Given the description of an element on the screen output the (x, y) to click on. 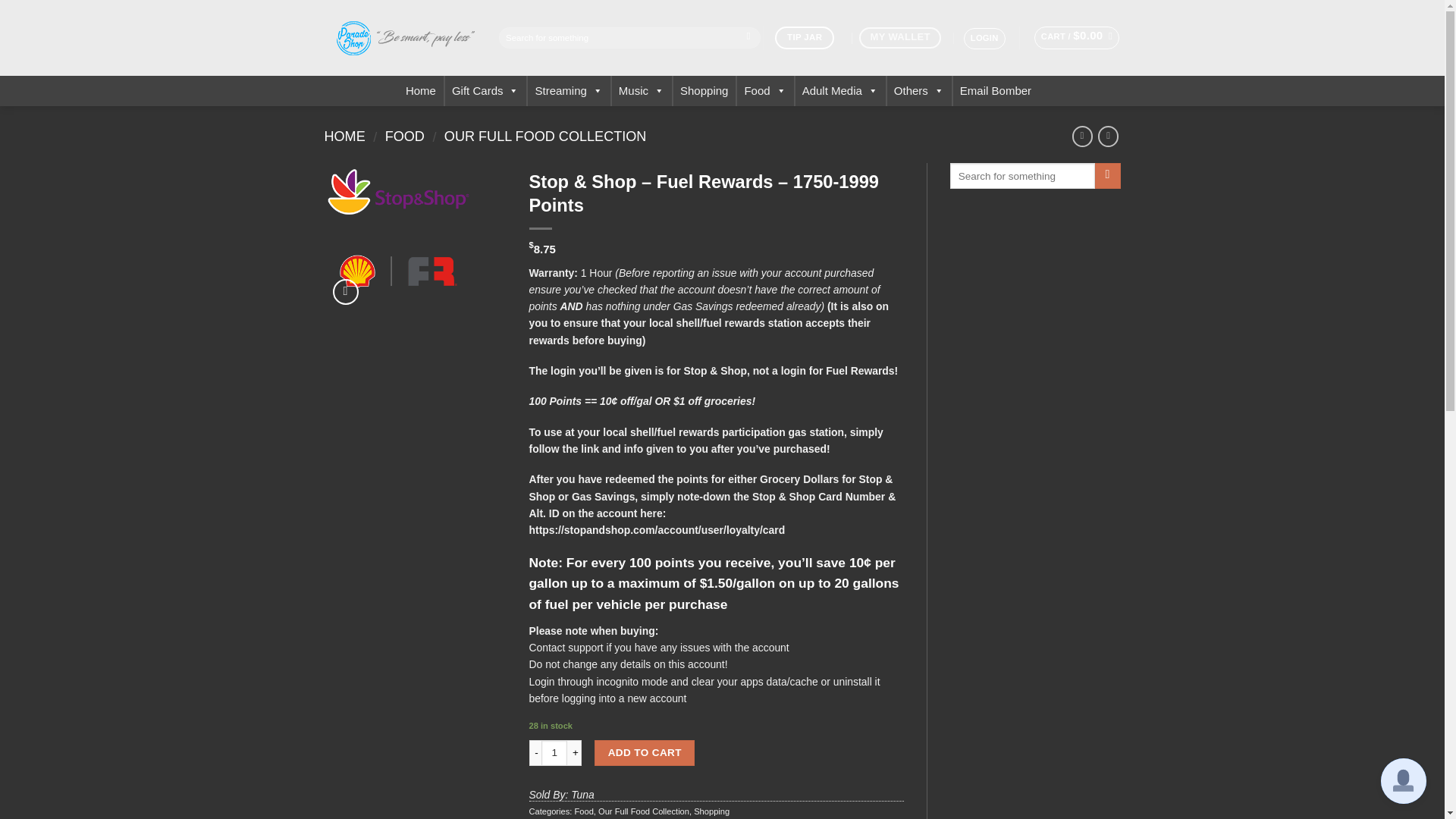
Email Bomber (995, 91)
1 (554, 752)
paradeshop -  (400, 38)
Streaming (568, 91)
Others (919, 91)
TIP JAR (804, 37)
Music (641, 91)
LOGIN (984, 38)
Tuna (582, 794)
Cart (1076, 37)
Qty (554, 752)
MY WALLET (904, 37)
Food (764, 91)
Gift Cards (485, 91)
Home (420, 91)
